Given the description of an element on the screen output the (x, y) to click on. 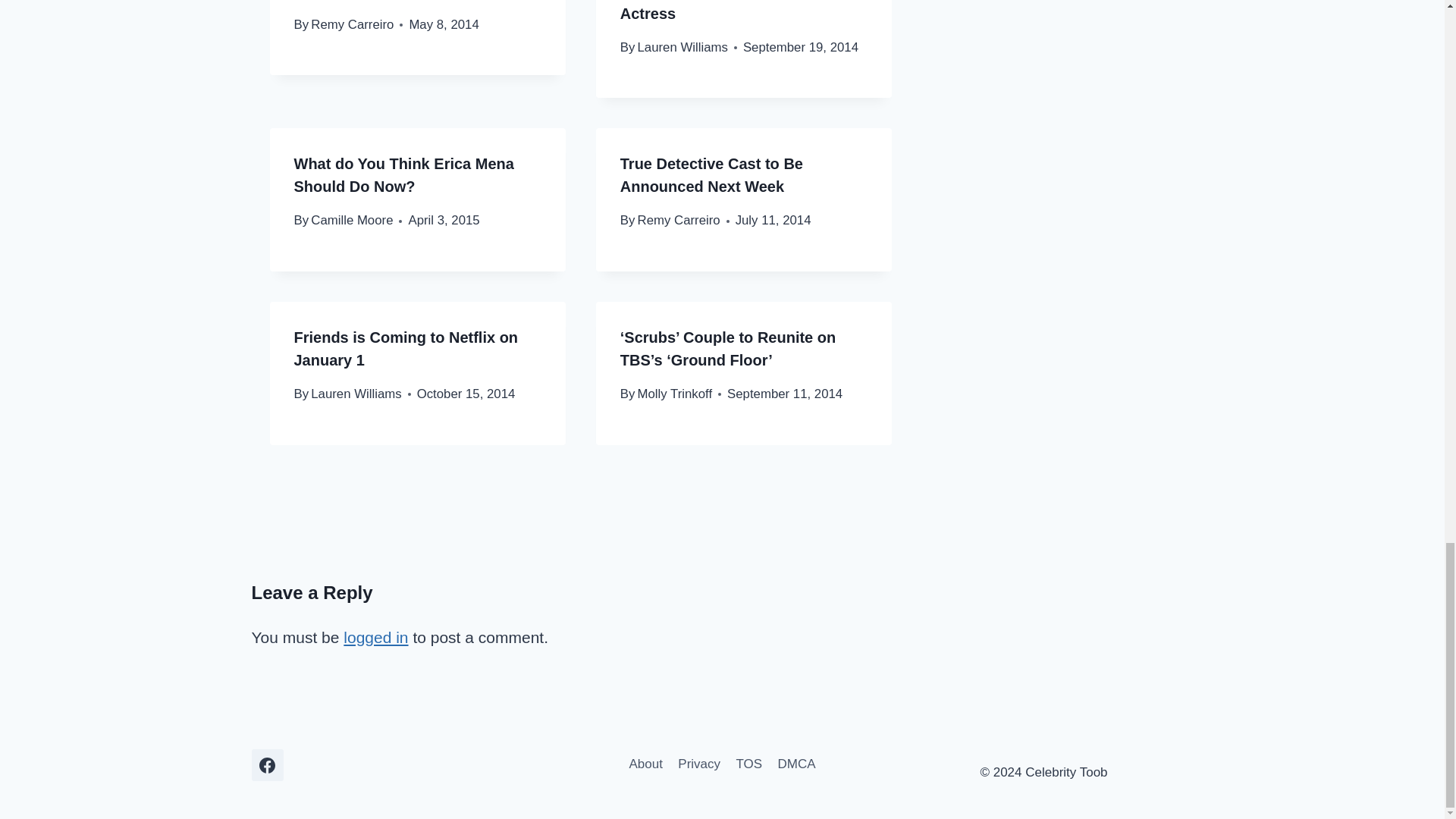
Lauren Williams (682, 47)
Friends is Coming to Netflix on January 1 (406, 348)
Remy Carreiro (352, 24)
Molly Trinkoff (675, 393)
Remy Carreiro (678, 219)
Camille Moore (352, 219)
What do You Think Erica Mena Should Do Now? (403, 174)
Lauren Williams (356, 393)
True Detective Cast to Be Announced Next Week (711, 174)
